Given the description of an element on the screen output the (x, y) to click on. 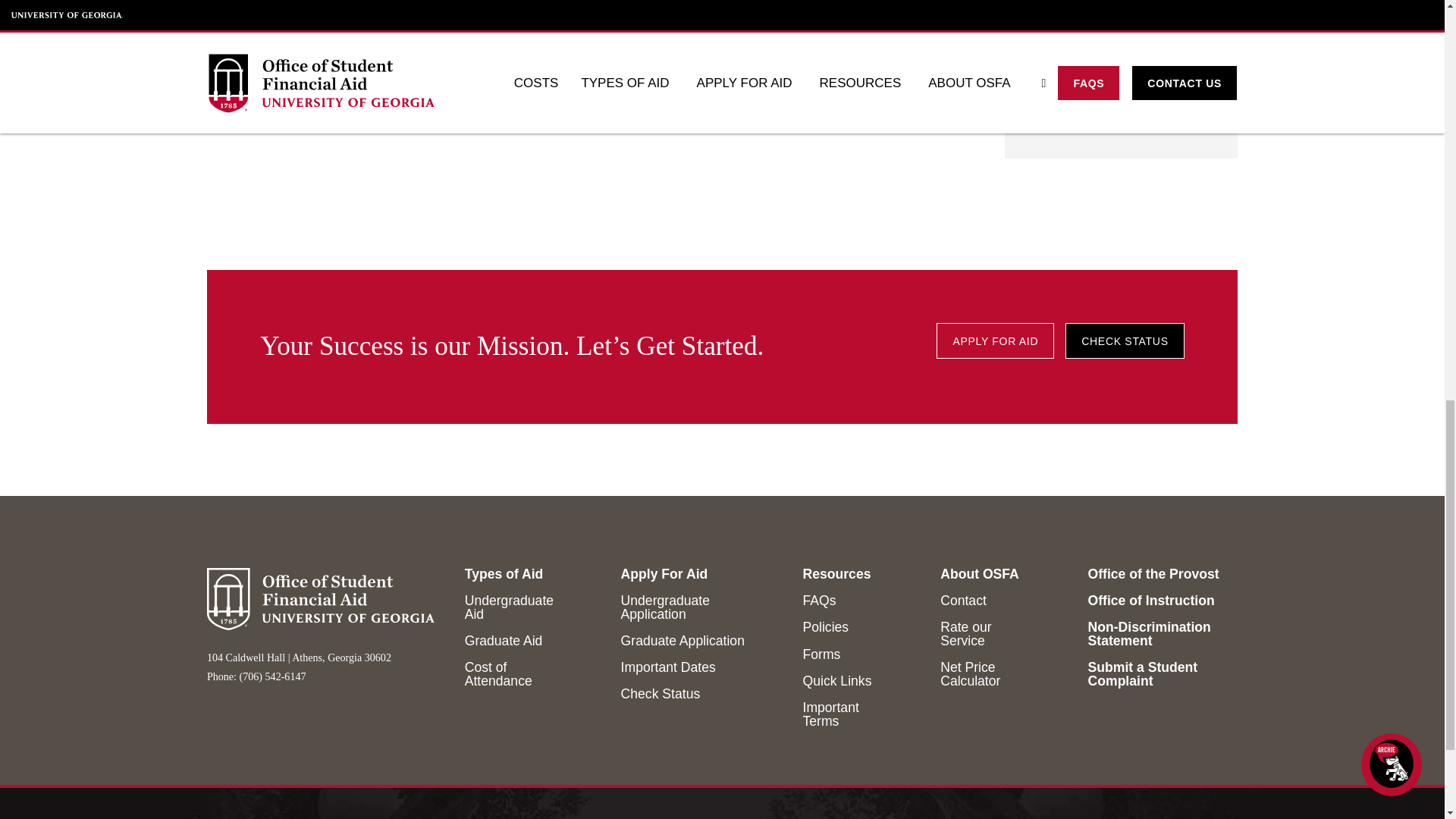
Check Status (1124, 340)
Apply For Aid (995, 340)
